Given the description of an element on the screen output the (x, y) to click on. 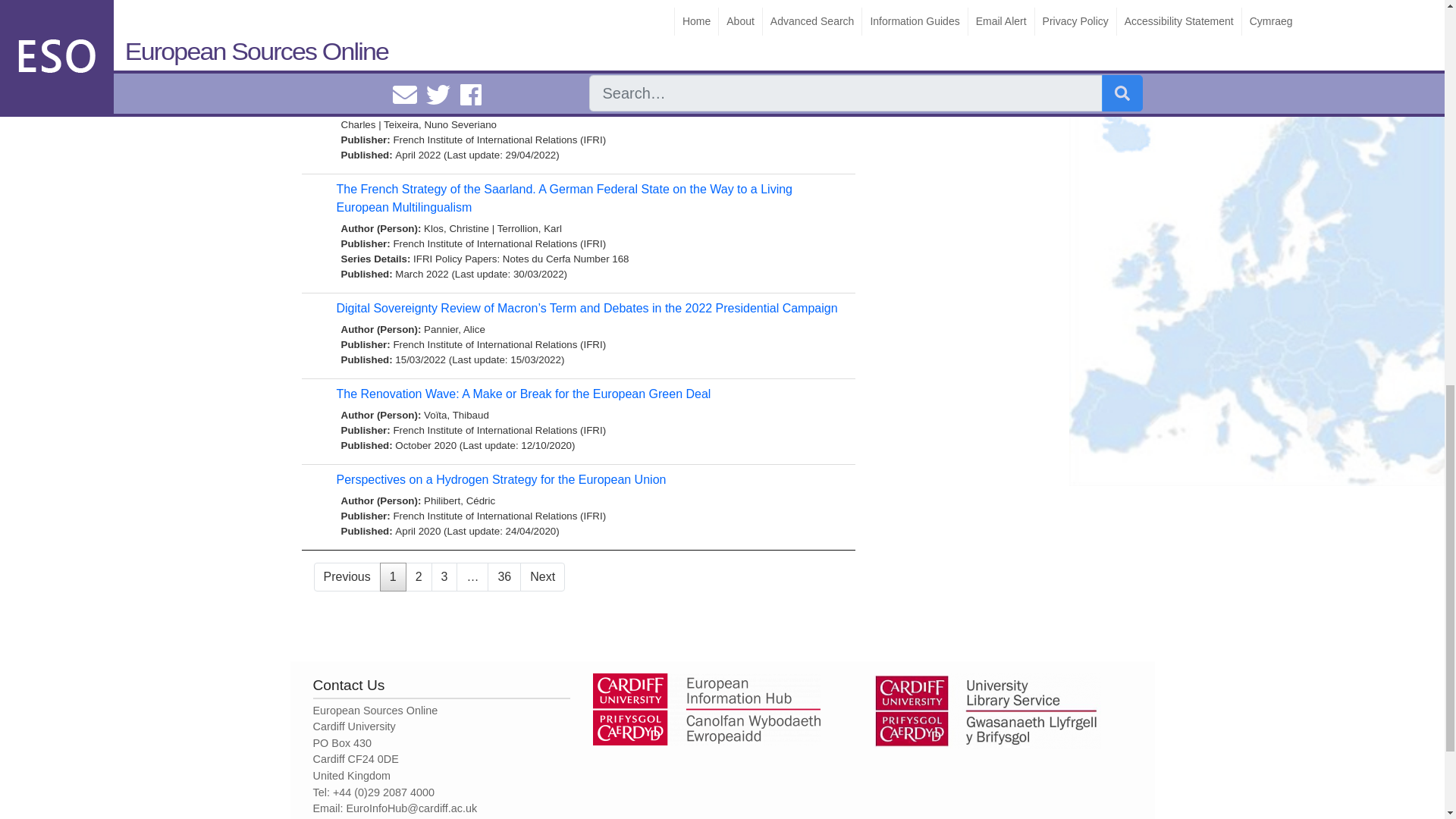
IFRI Policy Papers: Notes de l'Ifri (486, 20)
IFRI Policy Papers: Russie.Nei.Visions (654, 20)
